Given the description of an element on the screen output the (x, y) to click on. 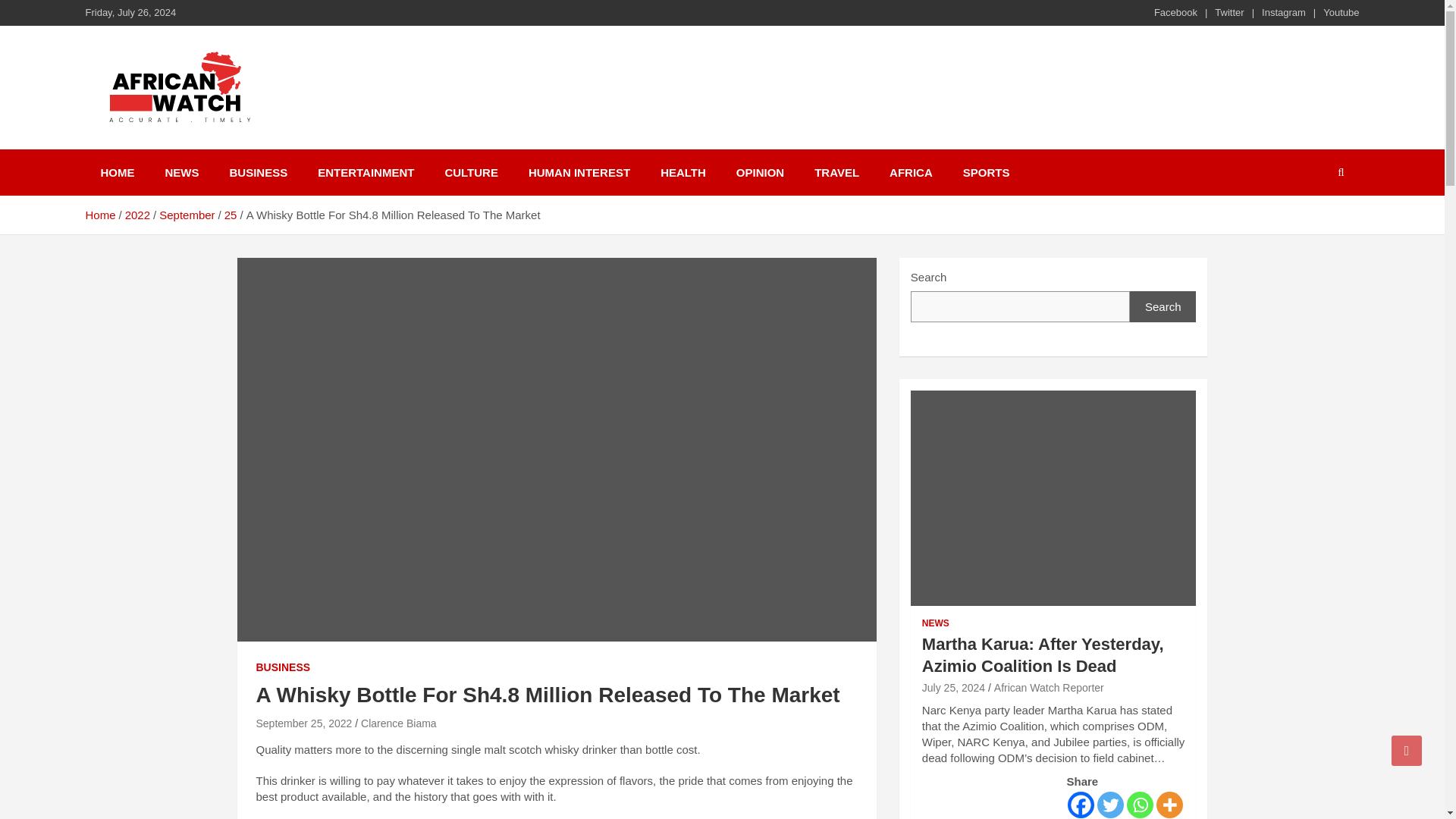
Search (1162, 306)
Whatsapp (1139, 804)
NEWS (181, 172)
Twitter (1110, 804)
Home (99, 214)
BUSINESS (283, 667)
Martha Karua: After Yesterday, Azimio Coalition Is Dead (953, 687)
More (1169, 804)
OPINION (759, 172)
2022 (137, 214)
Facebook (1080, 804)
HOME (116, 172)
Youtube (1340, 12)
Facebook (1175, 12)
September (186, 214)
